Given the description of an element on the screen output the (x, y) to click on. 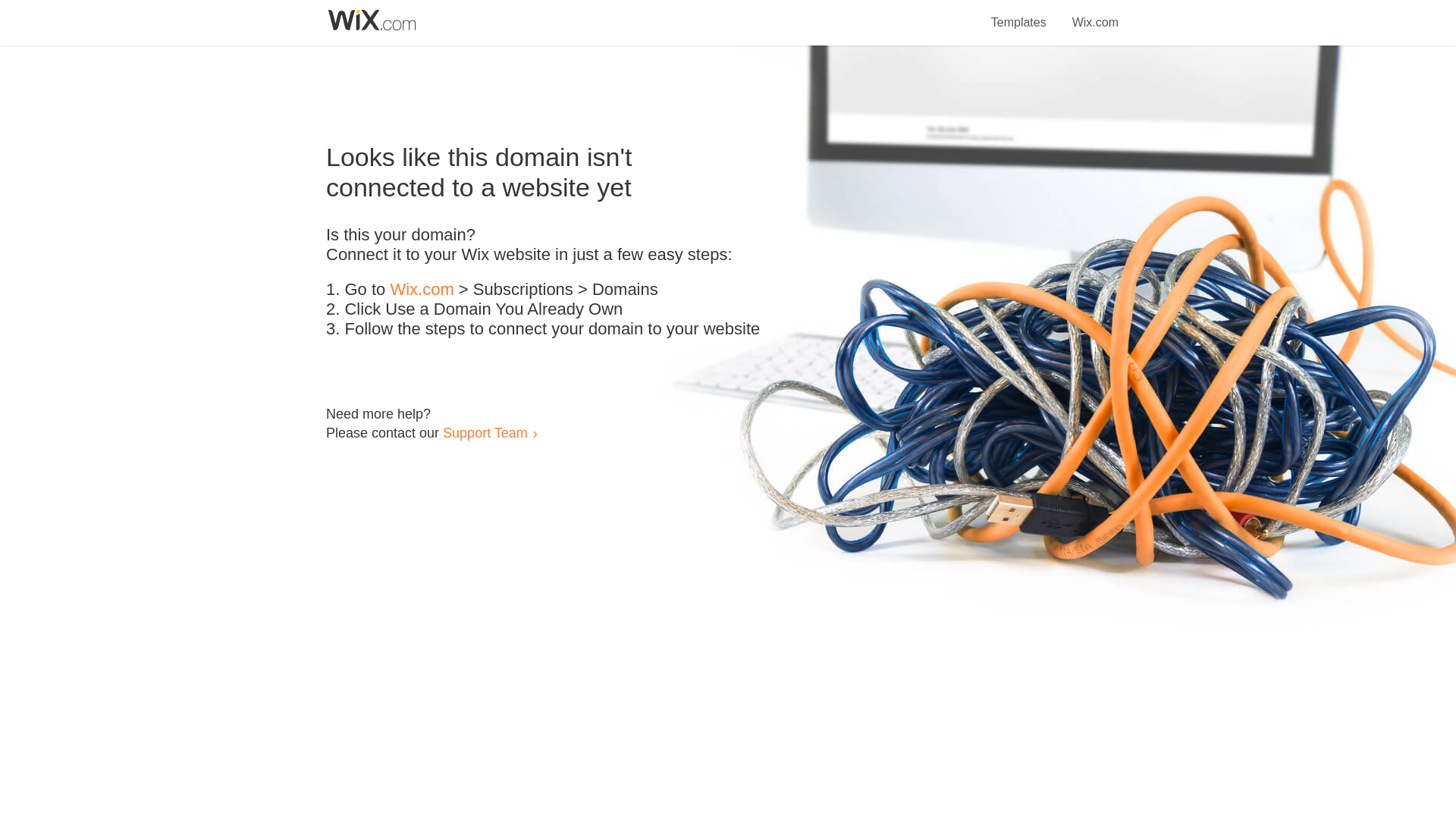
Support Team (484, 432)
Templates (1018, 14)
Wix.com (1095, 14)
Wix.com (421, 289)
